Given the description of an element on the screen output the (x, y) to click on. 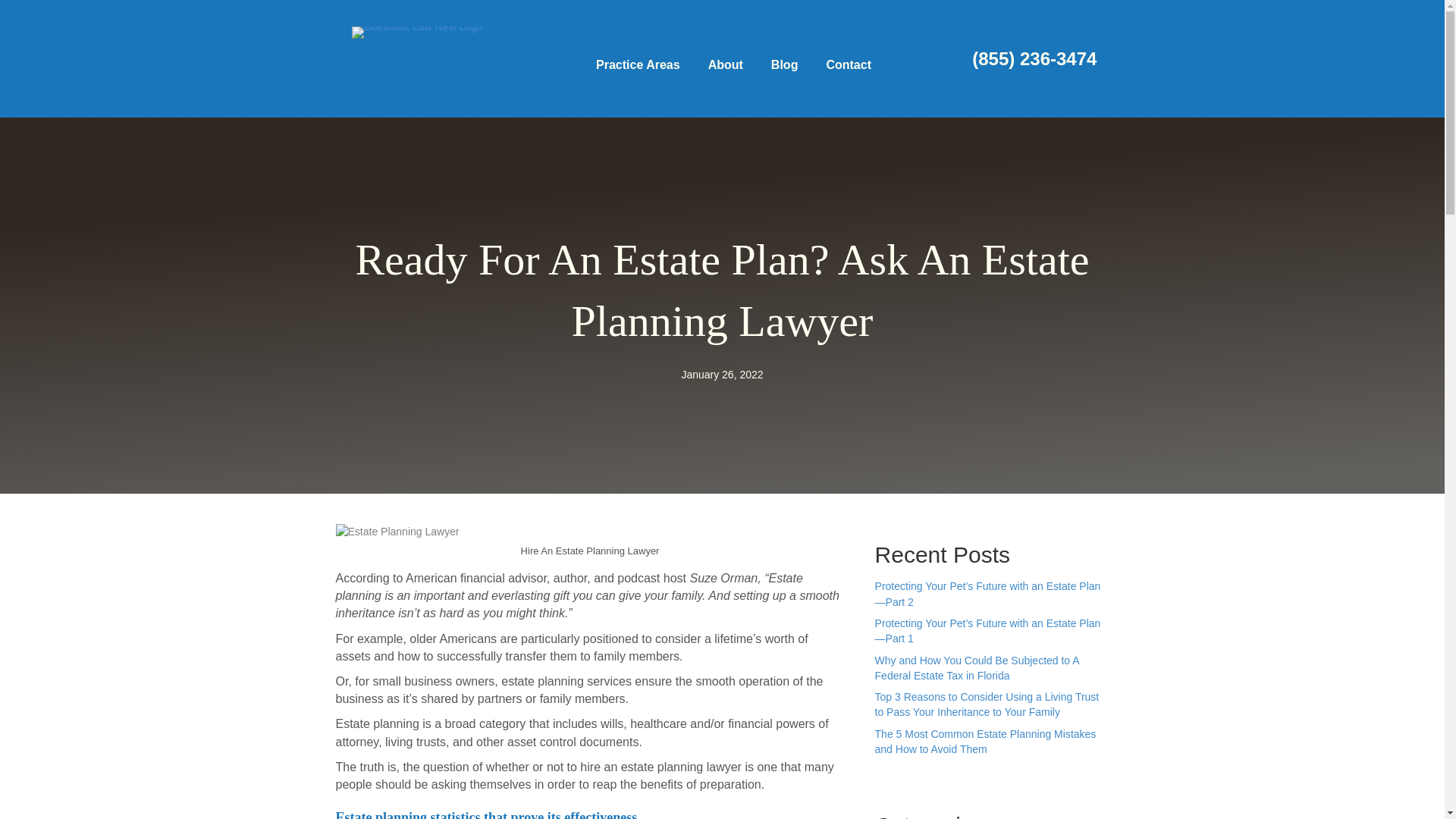
Contact (848, 65)
Blog (784, 65)
About (725, 65)
Dishowitz Law Logo-V07 (416, 32)
Practice Areas (638, 65)
